Given the description of an element on the screen output the (x, y) to click on. 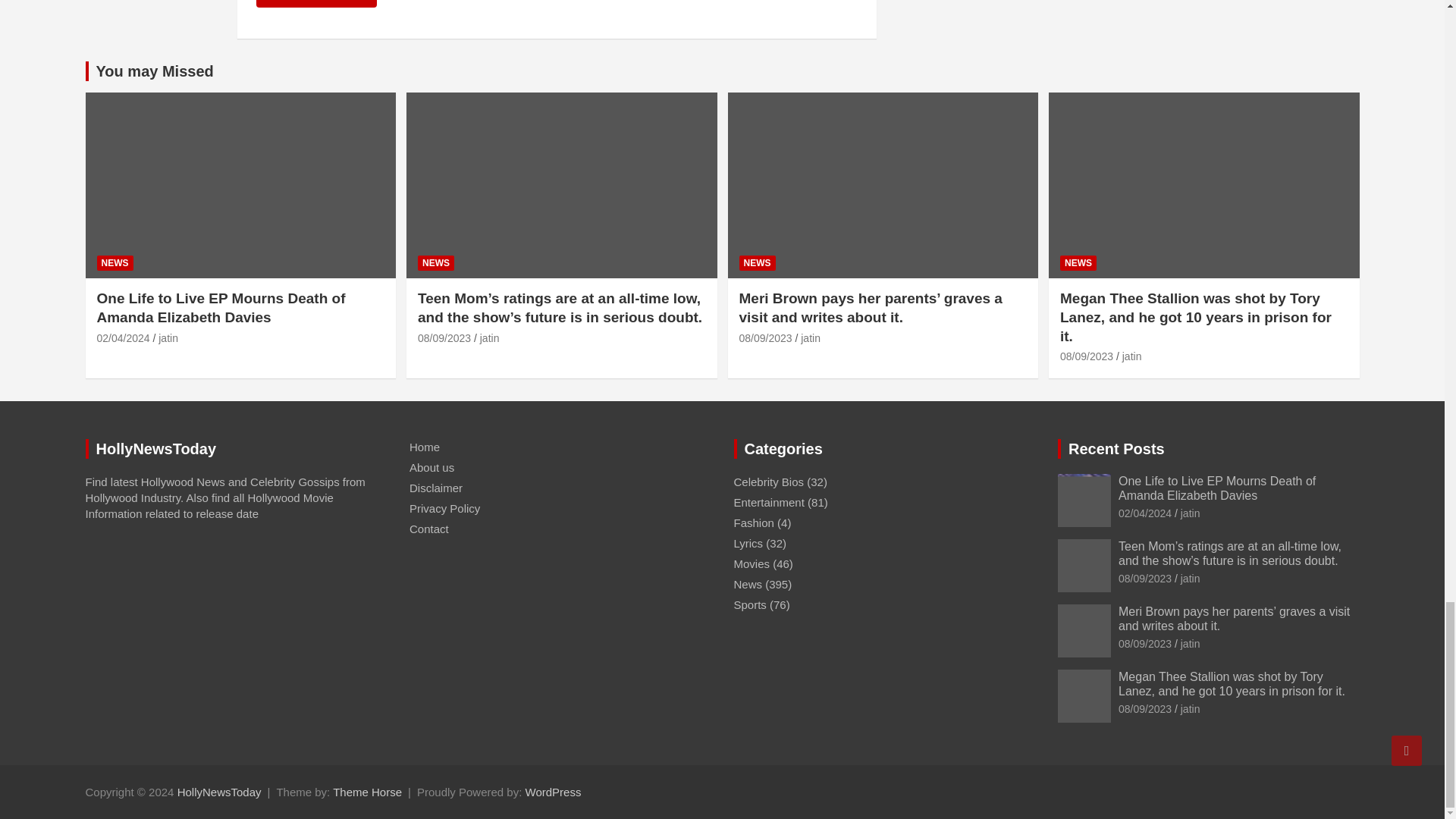
One Life to Live EP Mourns Death of Amanda Elizabeth Davies (123, 337)
Post Comment (316, 3)
HollyNewsToday (219, 791)
One Life to Live EP Mourns Death of Amanda Elizabeth Davies (1145, 512)
Post Comment (316, 3)
